Given the description of an element on the screen output the (x, y) to click on. 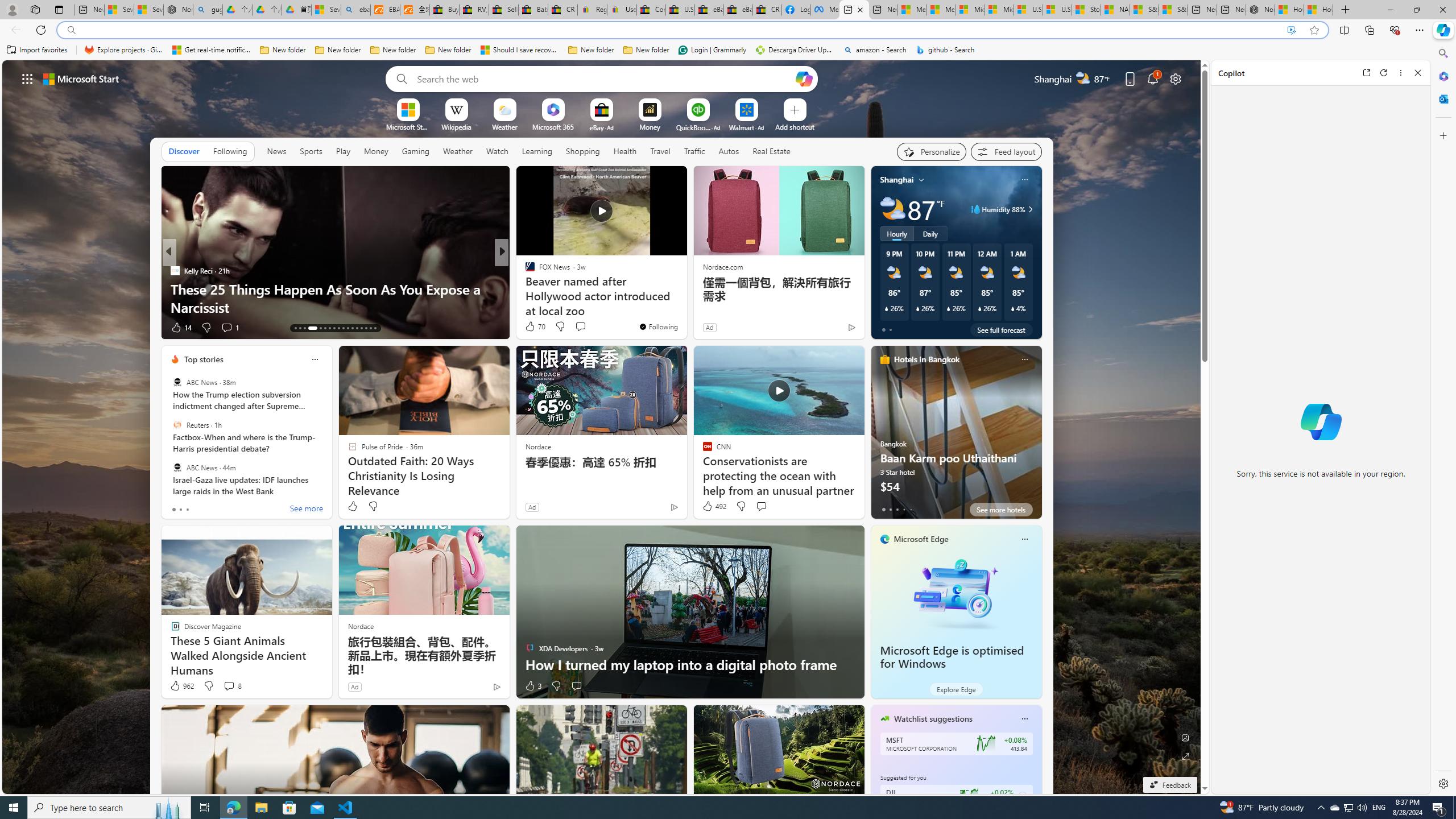
Open link in new tab (1366, 72)
Top stories (203, 359)
Shopping (582, 151)
Outlook (1442, 98)
962 Like (181, 685)
hotels-header-icon (884, 358)
AutomationID: tab-23 (347, 328)
